Given the description of an element on the screen output the (x, y) to click on. 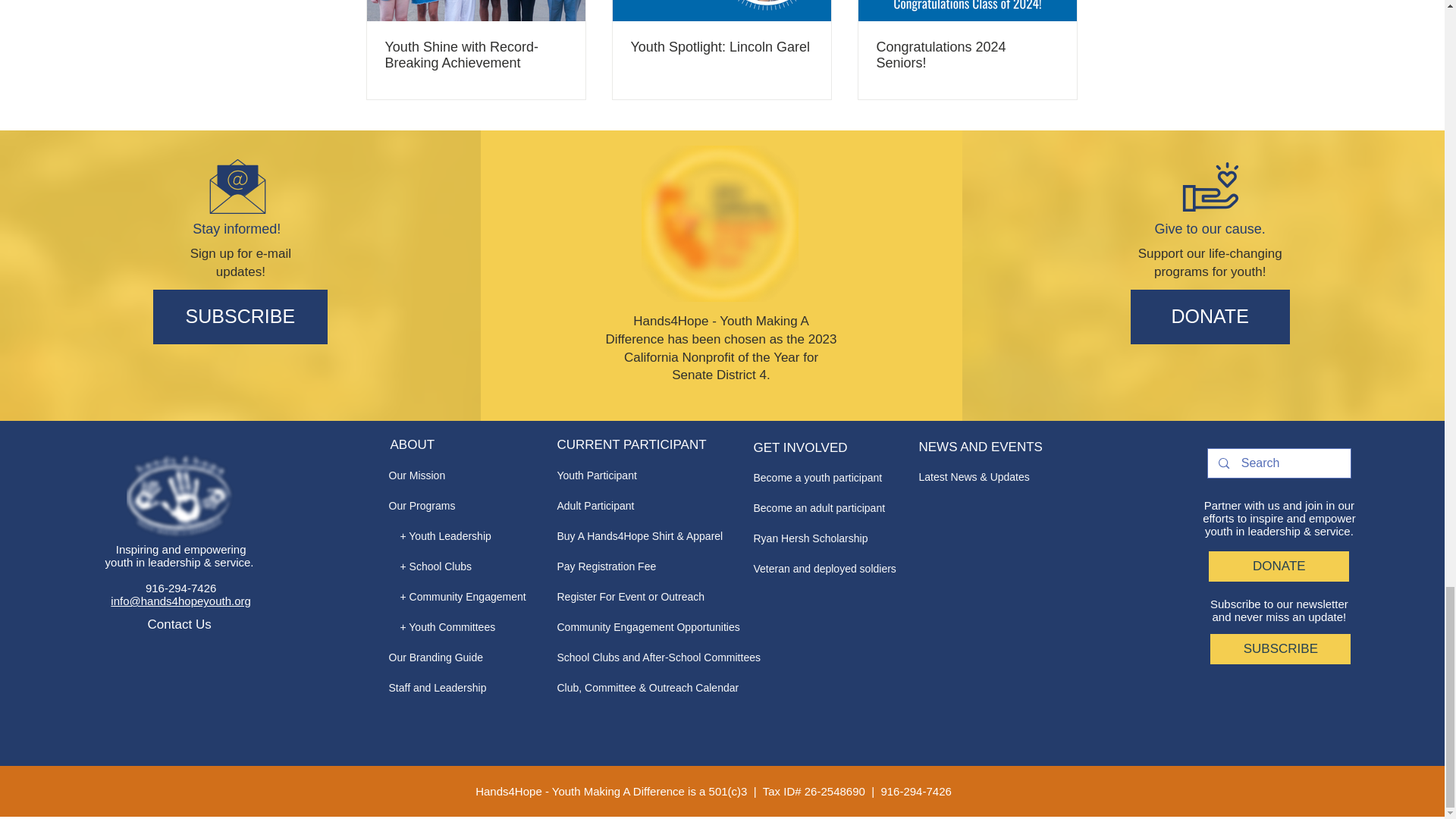
Congratulations 2024 Seniors! (967, 55)
SUBSCRIBE (239, 316)
Youth Spotlight: Lincoln Garel (721, 47)
Youth Shine with Record-Breaking Achievement (476, 55)
